Given the description of an element on the screen output the (x, y) to click on. 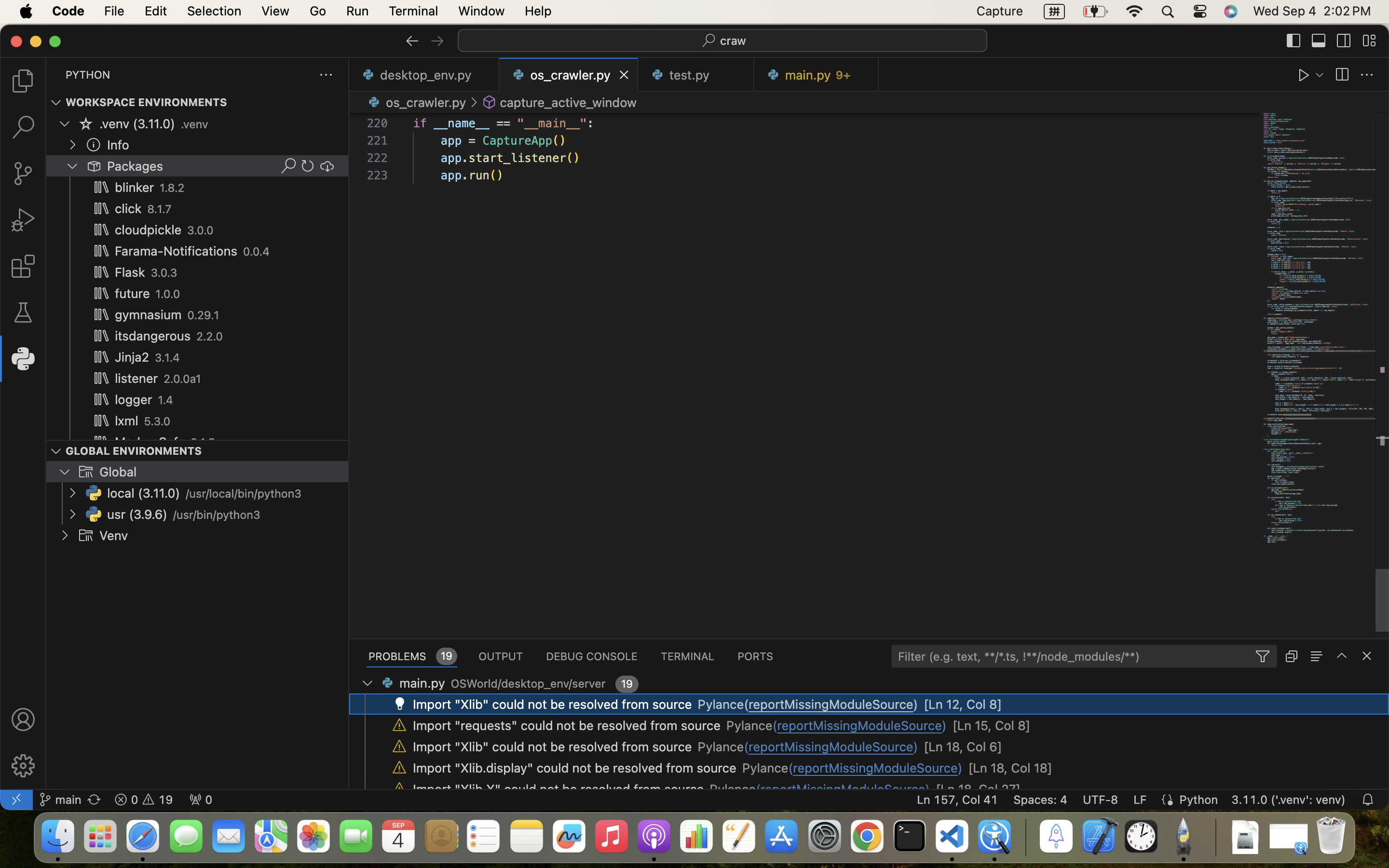
Flask Element type: AXStaticText (129, 272)
0  Element type: AXRadioButton (23, 266)
 Element type: AXGroup (23, 312)
cloudpickle Element type: AXStaticText (148, 229)
 Element type: AXStaticText (399, 746)
